Given the description of an element on the screen output the (x, y) to click on. 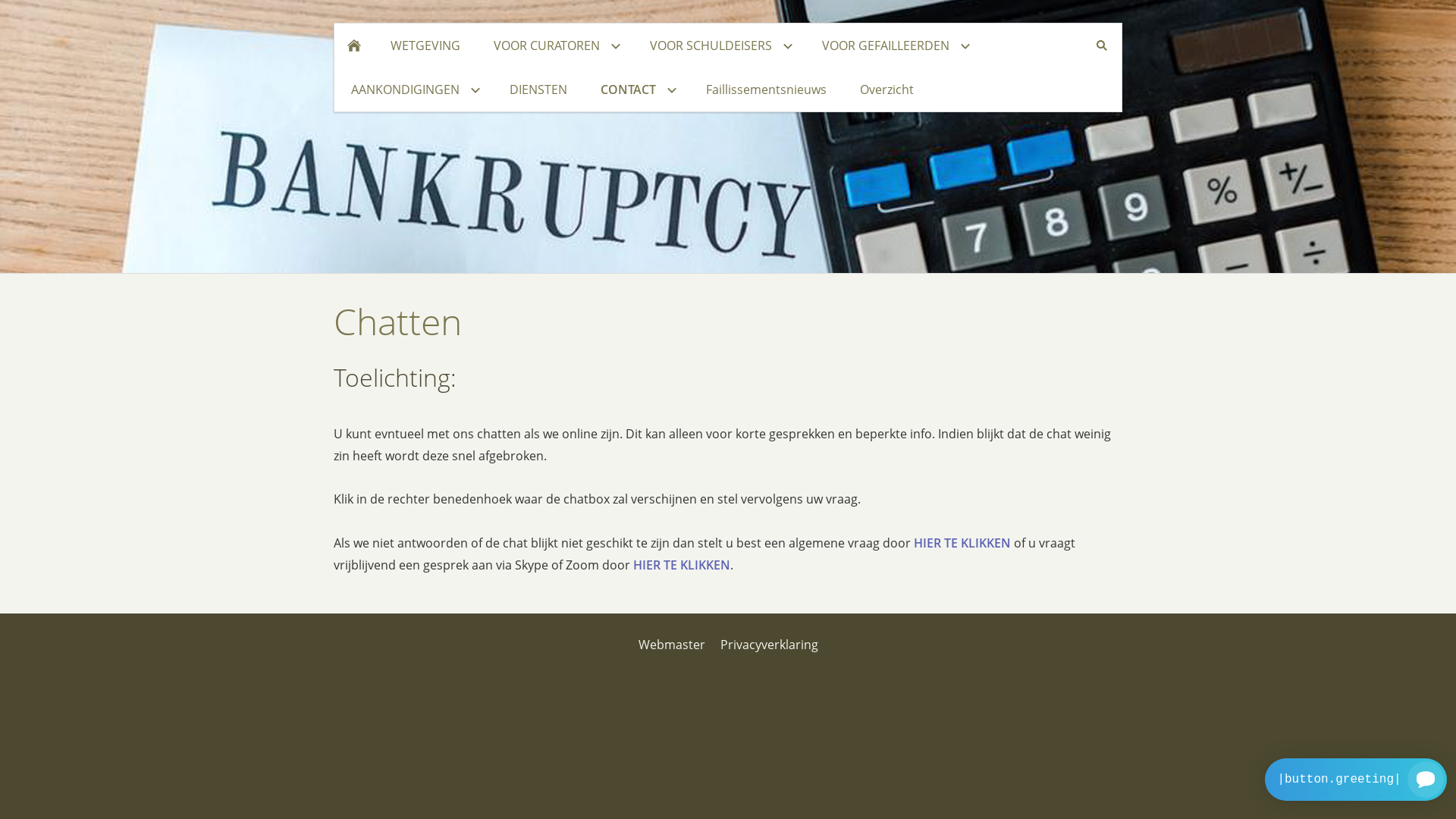
Faillissementsnieuws Element type: text (766, 89)
VOOR GEFAILLEERDEN Element type: text (893, 45)
CONTACT Element type: text (636, 89)
VOOR SCHULDEISERS Element type: text (719, 45)
Overzicht Element type: text (886, 89)
Smartsupp widget button Element type: hover (1355, 779)
AANKONDIGINGEN Element type: text (413, 89)
WETGEVING Element type: text (424, 45)
HIER TE KLIKKEN Element type: text (681, 564)
DIENSTEN Element type: text (537, 89)
Webmaster Element type: text (671, 644)
Privacyverklaring Element type: text (769, 644)
VOOR CURATOREN Element type: text (554, 45)
HIER TE KLIKKEN Element type: text (961, 542)
